Given the description of an element on the screen output the (x, y) to click on. 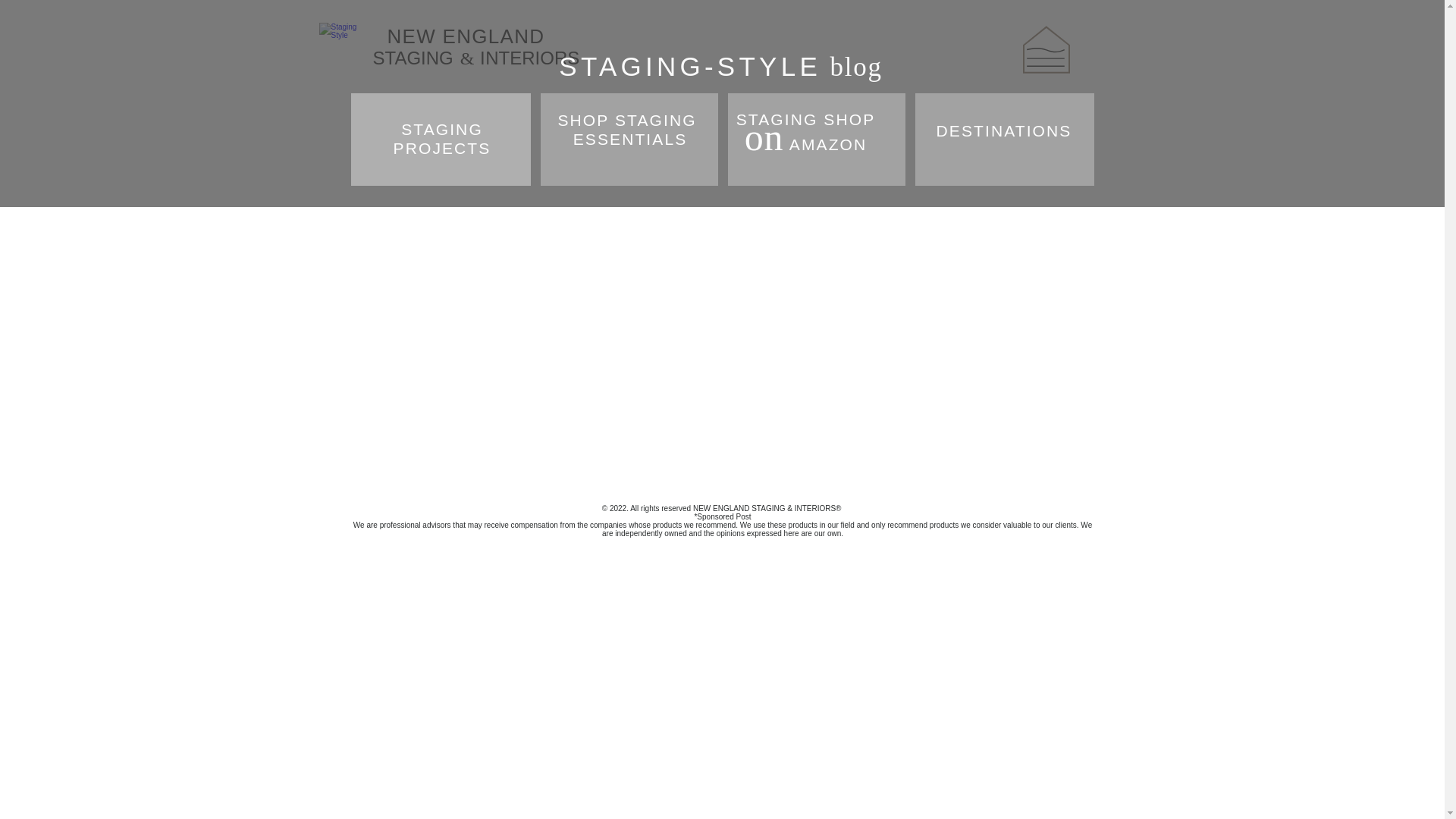
STAGING PROJECTS (442, 139)
STAGING-STYLE blog (720, 66)
STAGING SHOP on AMAZON (806, 133)
NEW ENGLAND (465, 36)
DESTINATIONS (629, 129)
